Given the description of an element on the screen output the (x, y) to click on. 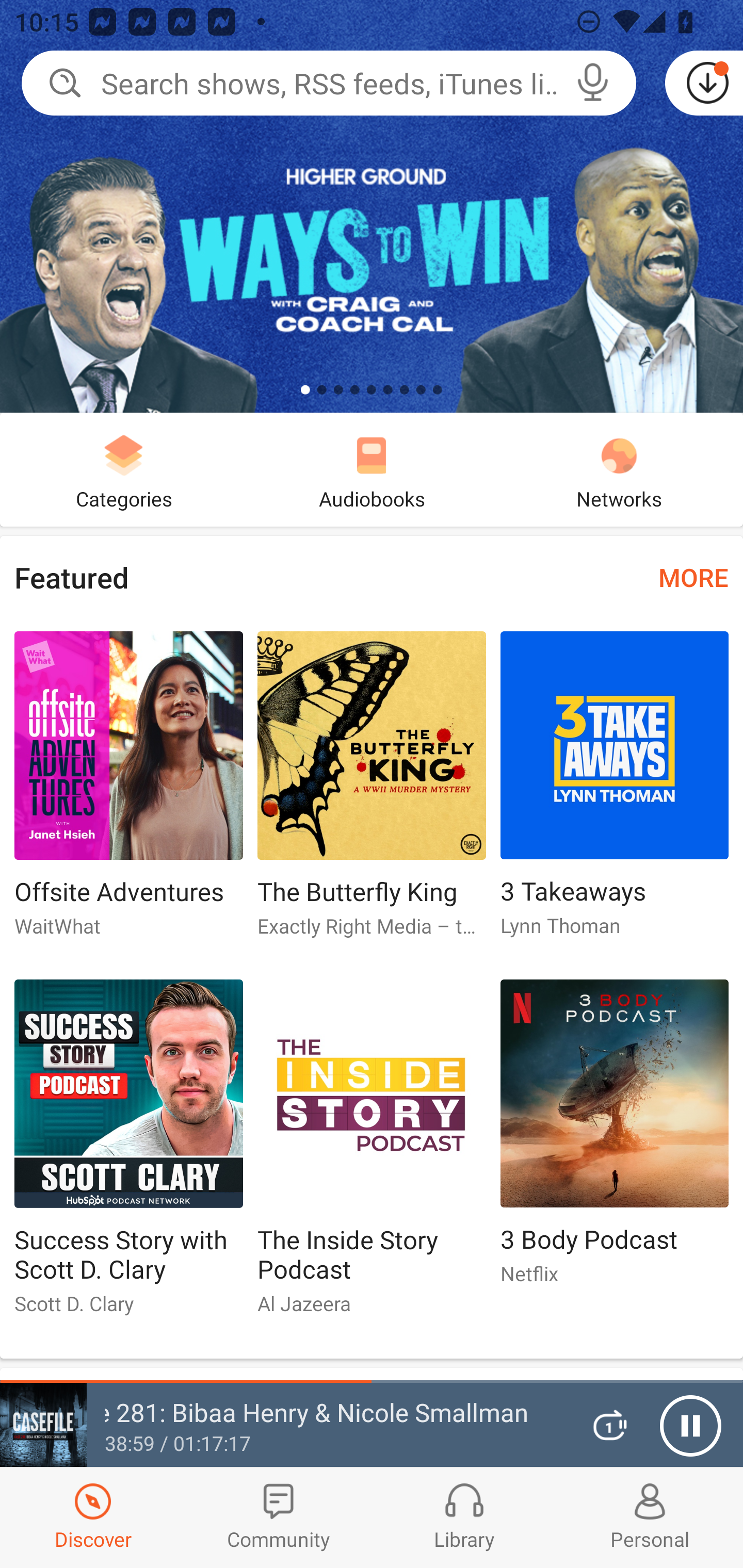
Ways To Win (371, 206)
Categories (123, 469)
Audiobooks (371, 469)
Networks (619, 469)
MORE (693, 576)
Offsite Adventures Offsite Adventures WaitWhat (128, 792)
3 Takeaways 3 Takeaways Lynn Thoman (614, 792)
3 Body Podcast 3 Body Podcast Netflix (614, 1140)
Pause (690, 1425)
Discover (92, 1517)
Community (278, 1517)
Library (464, 1517)
Profiles and Settings Personal (650, 1517)
